Given the description of an element on the screen output the (x, y) to click on. 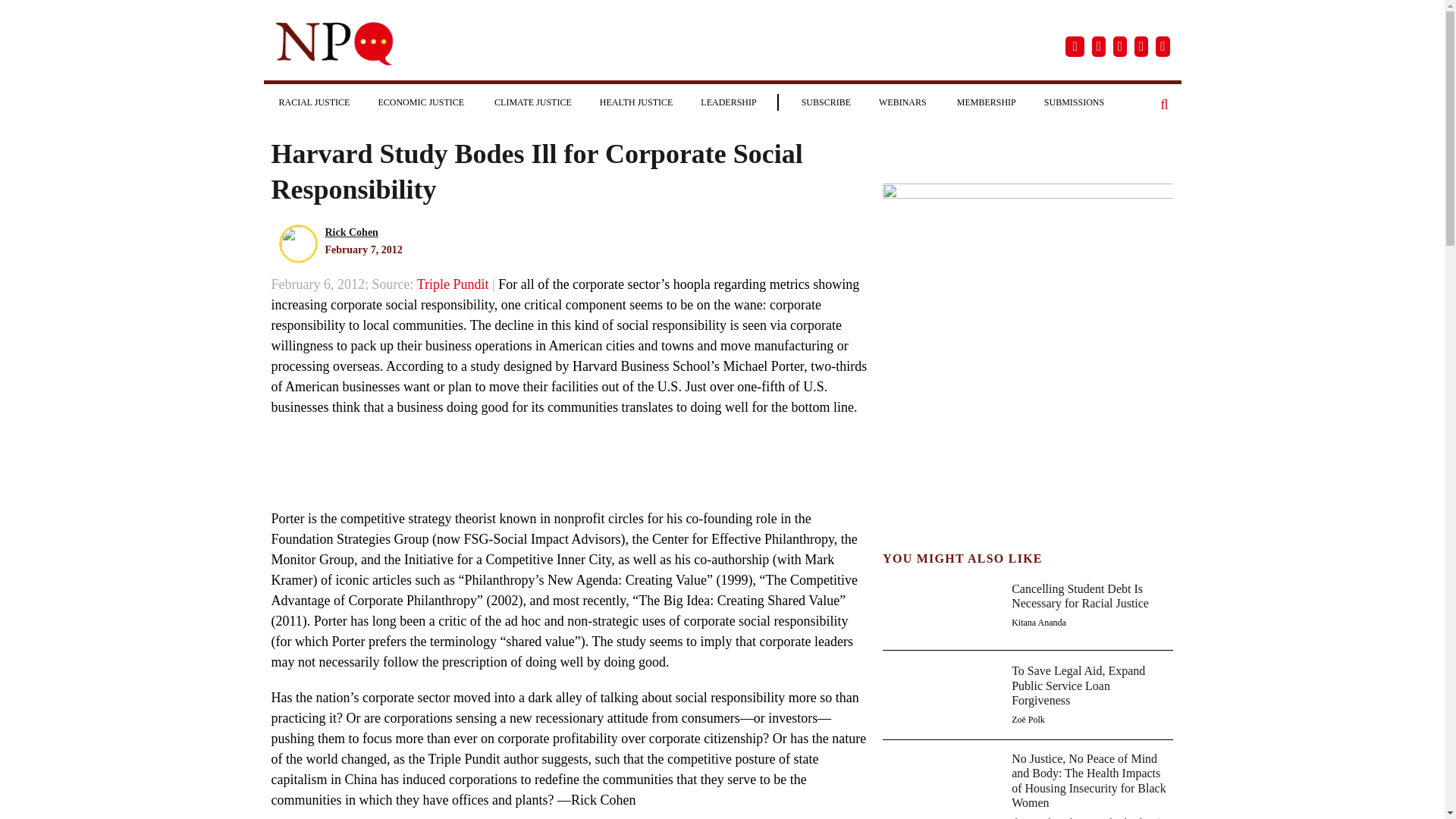
SUBSCRIBE (826, 102)
RACIAL JUSTICE (314, 102)
Posts by Rick Cohen (350, 232)
Kitana Ananda (1038, 622)
CLIMATE JUSTICE (532, 102)
HEALTH JUSTICE (636, 102)
WEBINARS (903, 102)
MEMBERSHIP (986, 102)
Submissions (1074, 102)
Economic Justice (421, 102)
Search (1164, 104)
SUBMISSIONS (1074, 102)
Racial Justice (314, 102)
LEADERSHIP (727, 102)
Subscribe (826, 102)
